Given the description of an element on the screen output the (x, y) to click on. 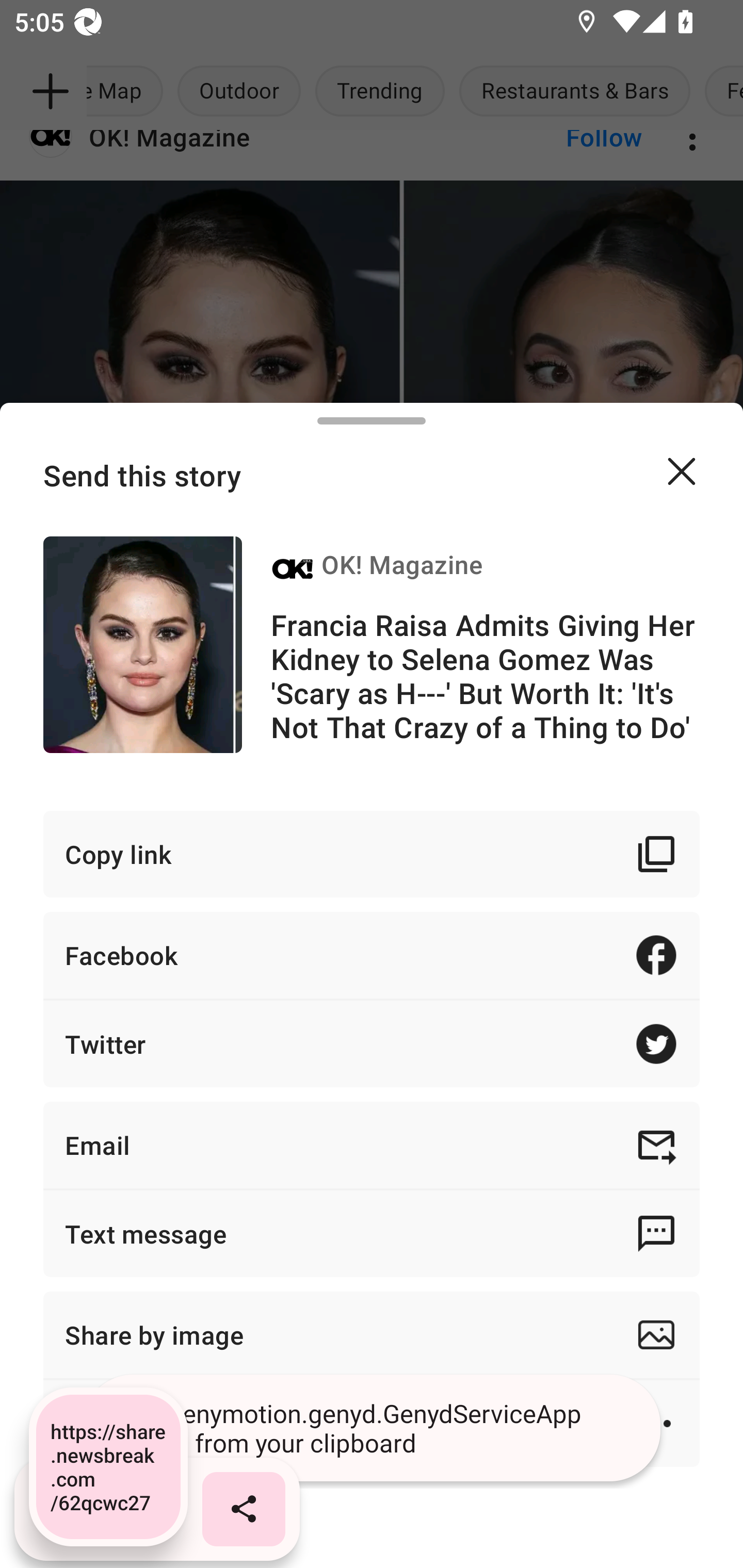
Copy link (371, 853)
Facebook (371, 955)
Twitter (371, 1043)
Email (371, 1145)
Text message (371, 1233)
Share by image (371, 1335)
